Given the description of an element on the screen output the (x, y) to click on. 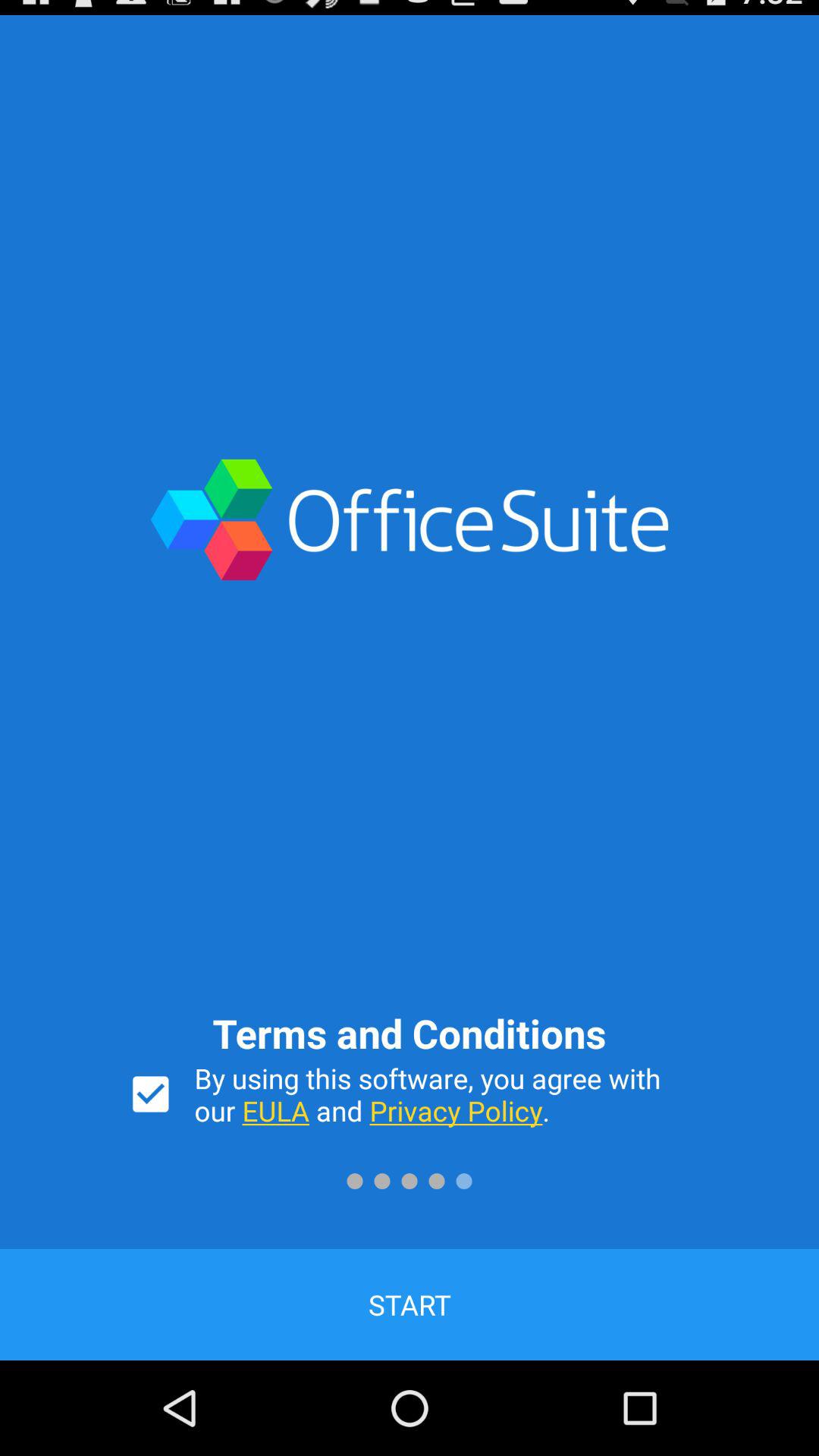
swipe to start item (409, 1304)
